Given the description of an element on the screen output the (x, y) to click on. 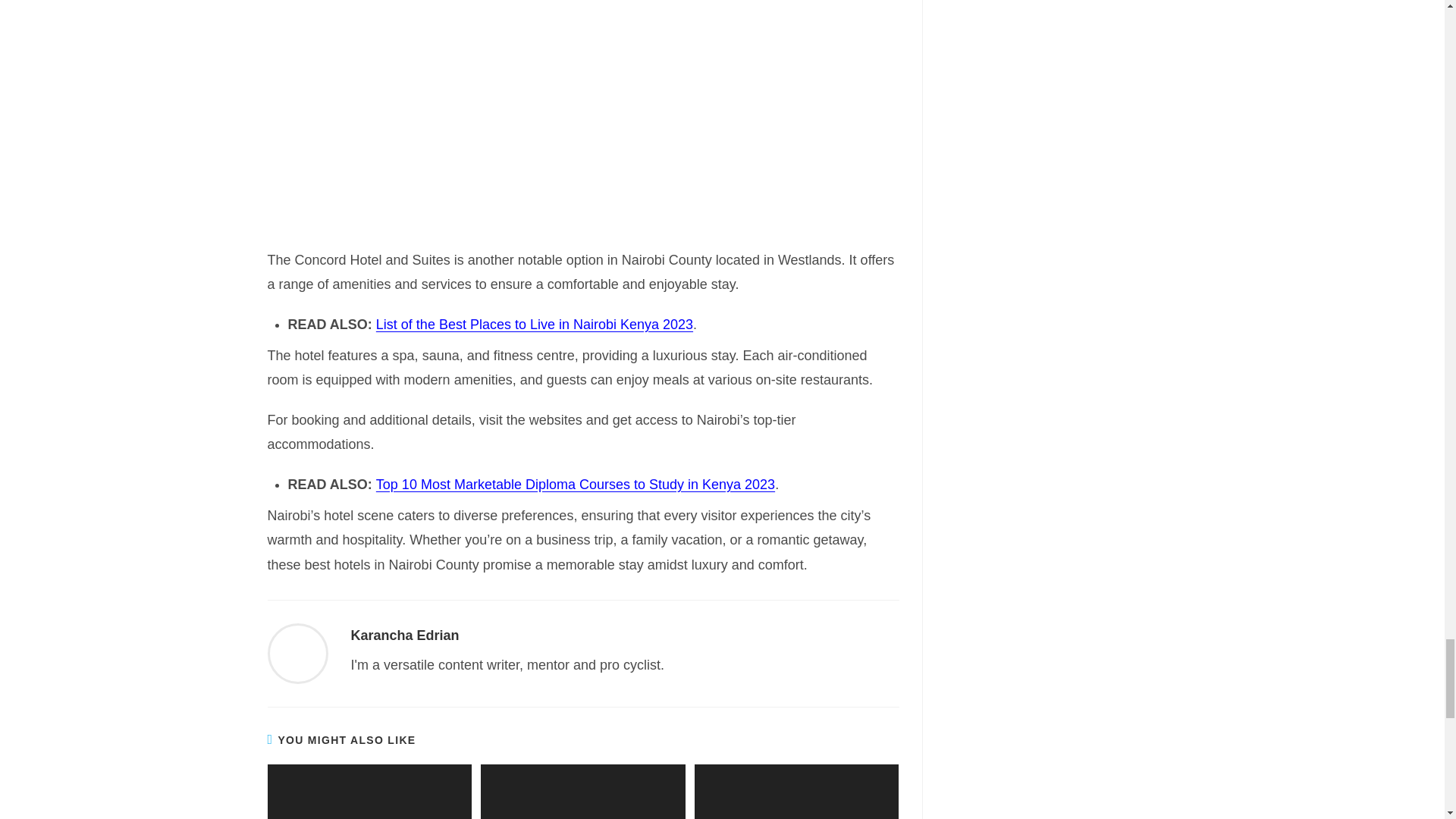
Visit author page (296, 652)
List of the Best Places to Live in Nairobi Kenya 2023 (534, 324)
Karancha Edrian (404, 635)
Visit author page (404, 635)
